Given the description of an element on the screen output the (x, y) to click on. 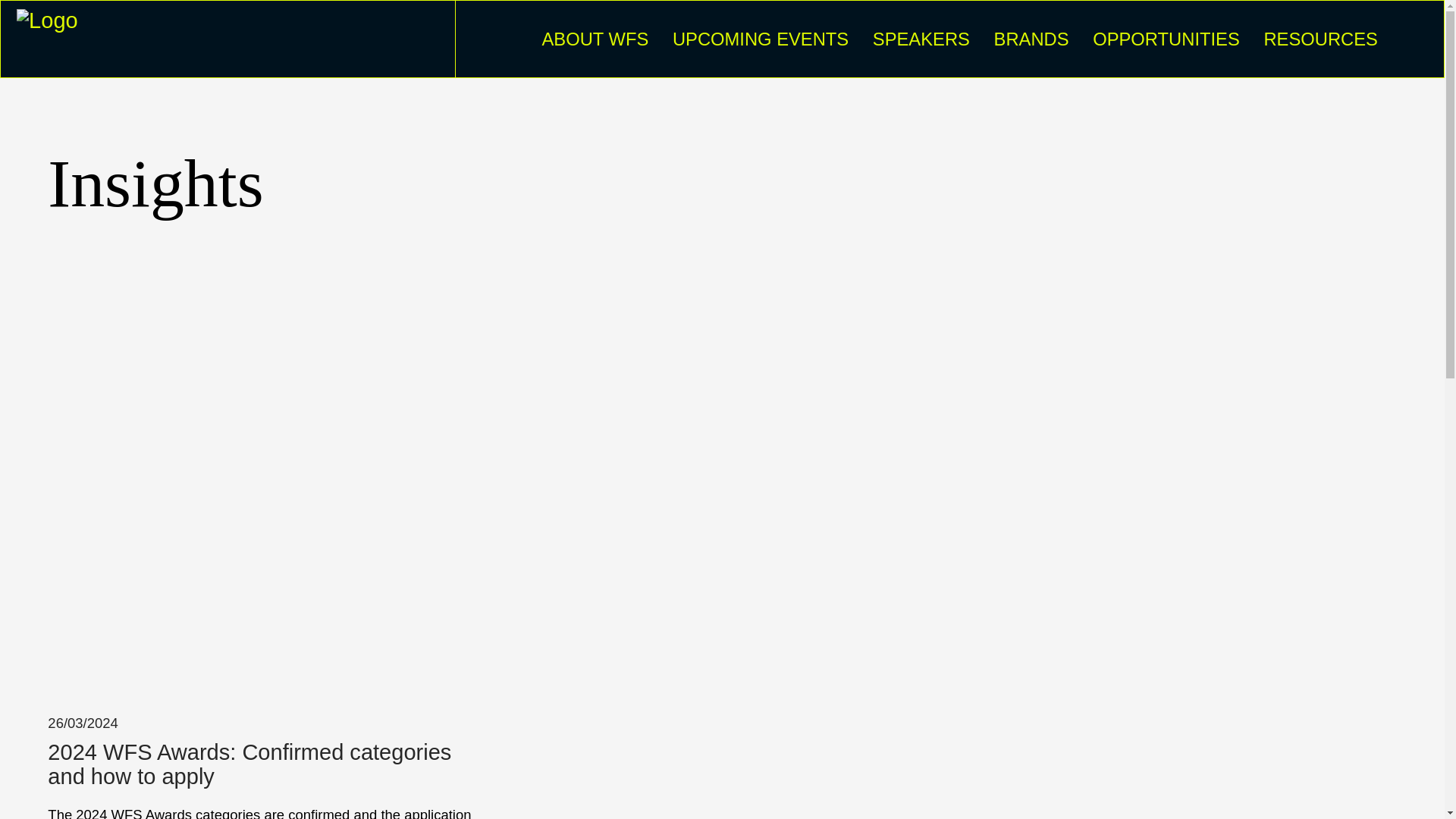
2024 WFS Awards: Confirmed categories and how to apply (264, 765)
ABOUT WFS (594, 38)
UPCOMING EVENTS (760, 38)
2024 WFS Awards: Confirmed categories and how to apply (264, 765)
BRANDS (1031, 38)
RESOURCES (1320, 38)
SPEAKERS (920, 38)
OPPORTUNITIES (1166, 38)
